Given the description of an element on the screen output the (x, y) to click on. 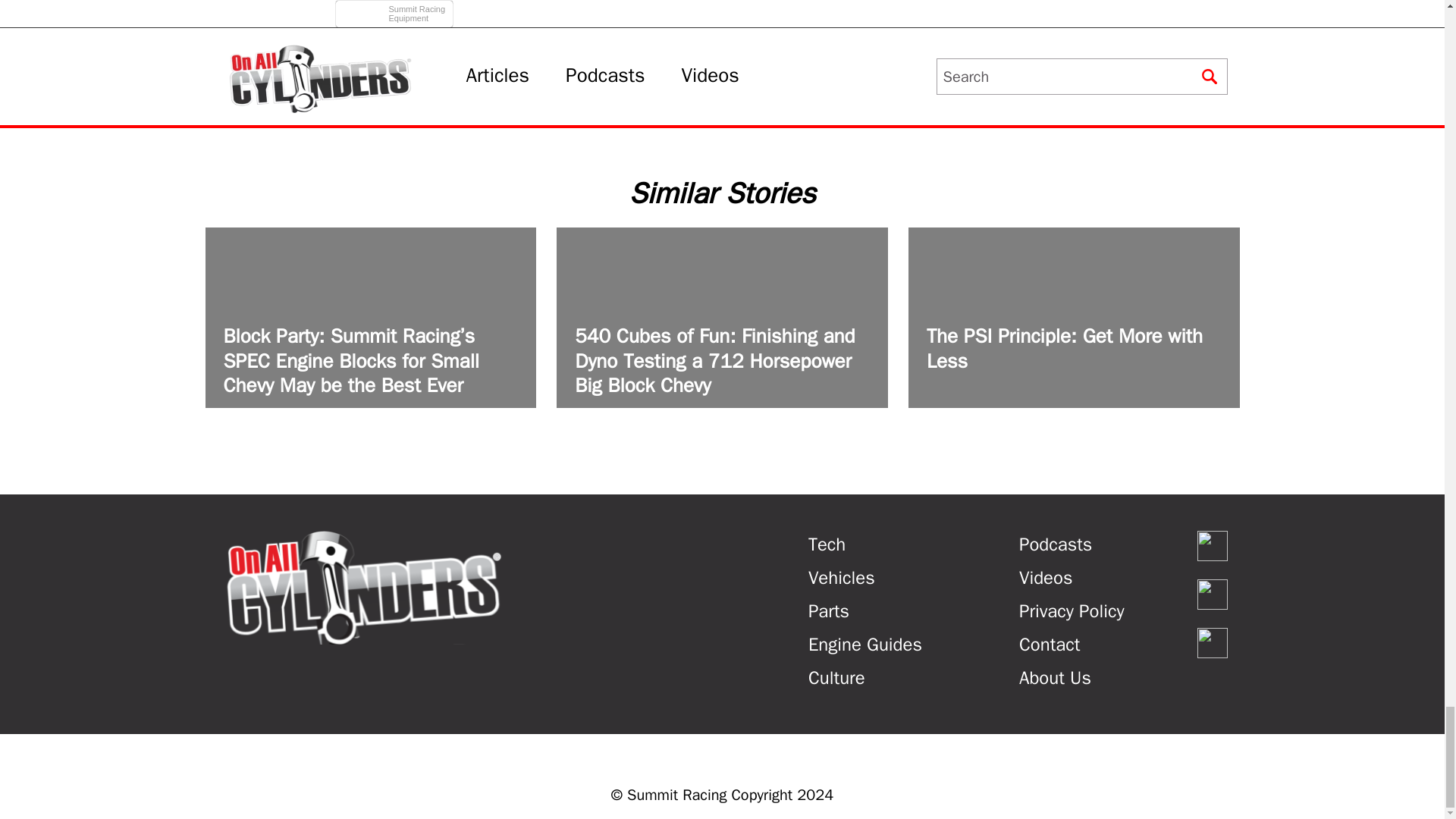
Post Comment (395, 16)
